Given the description of an element on the screen output the (x, y) to click on. 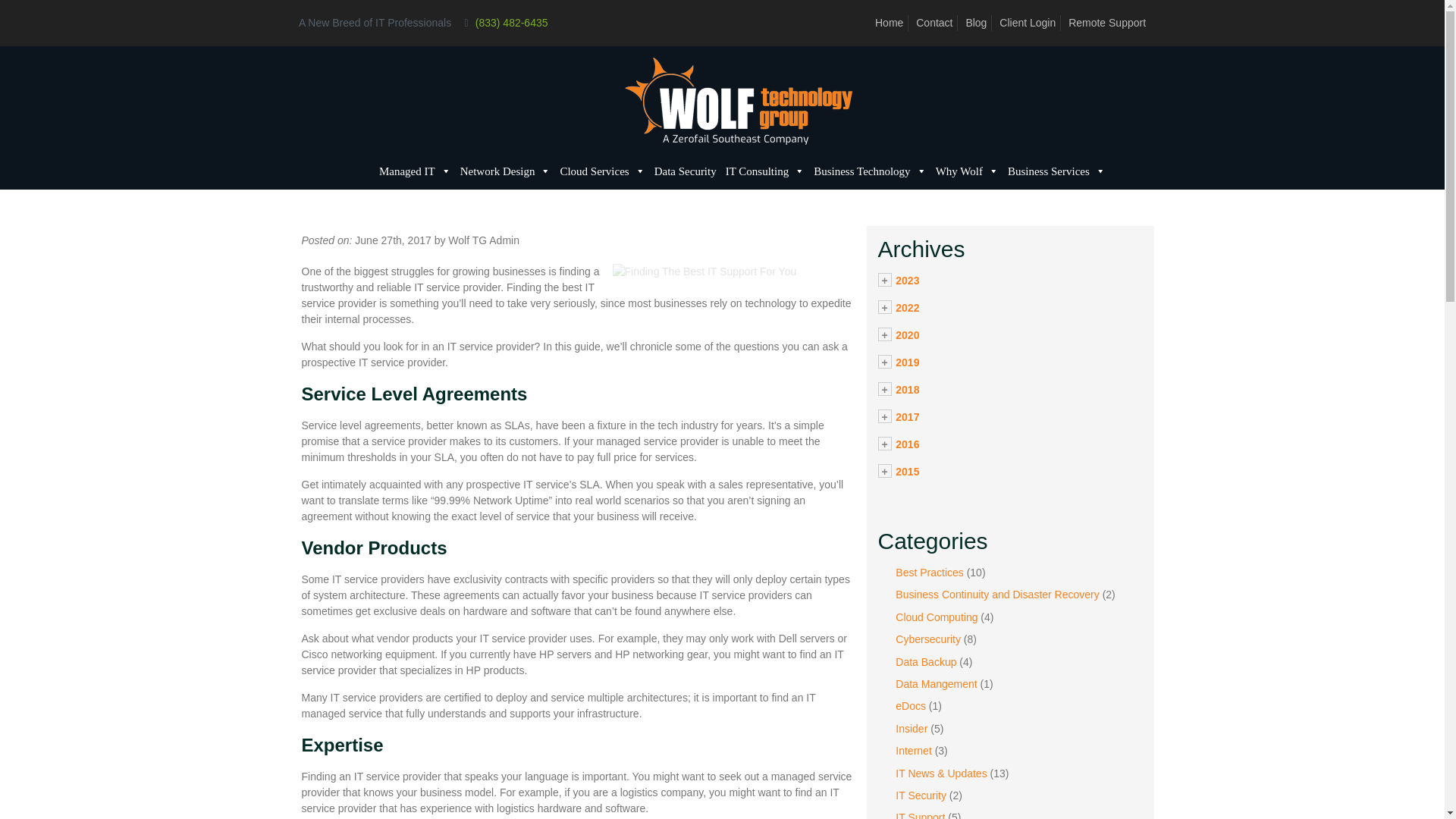
Managed IT (414, 171)
Home (888, 22)
Business Technology (869, 171)
Wolf TG (737, 100)
Client Login (1026, 22)
Business Services (1056, 171)
Contact (933, 22)
Blog (976, 22)
Remote Support (1106, 22)
Why Wolf (967, 171)
